Given the description of an element on the screen output the (x, y) to click on. 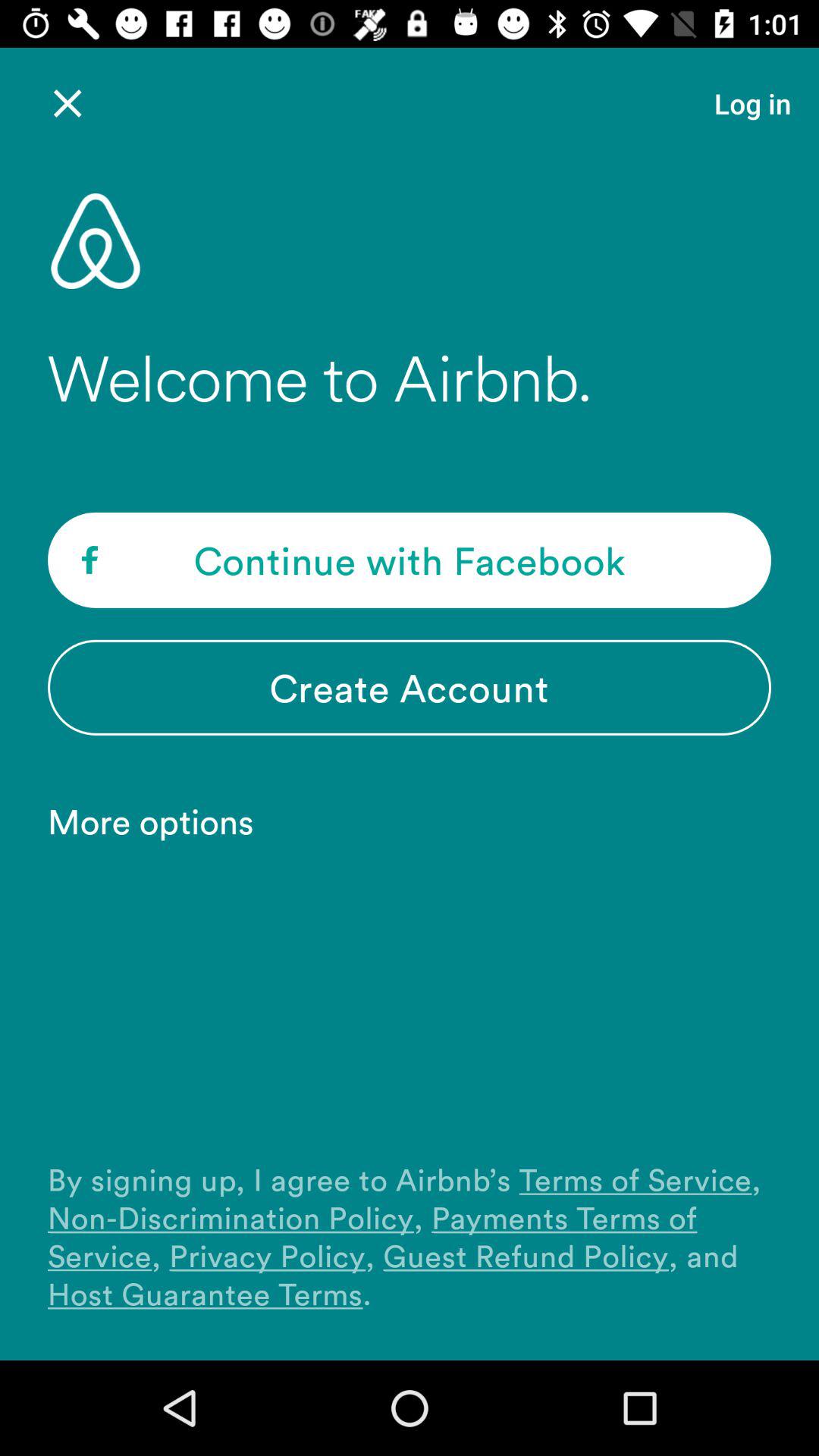
swipe to more options (158, 820)
